Given the description of an element on the screen output the (x, y) to click on. 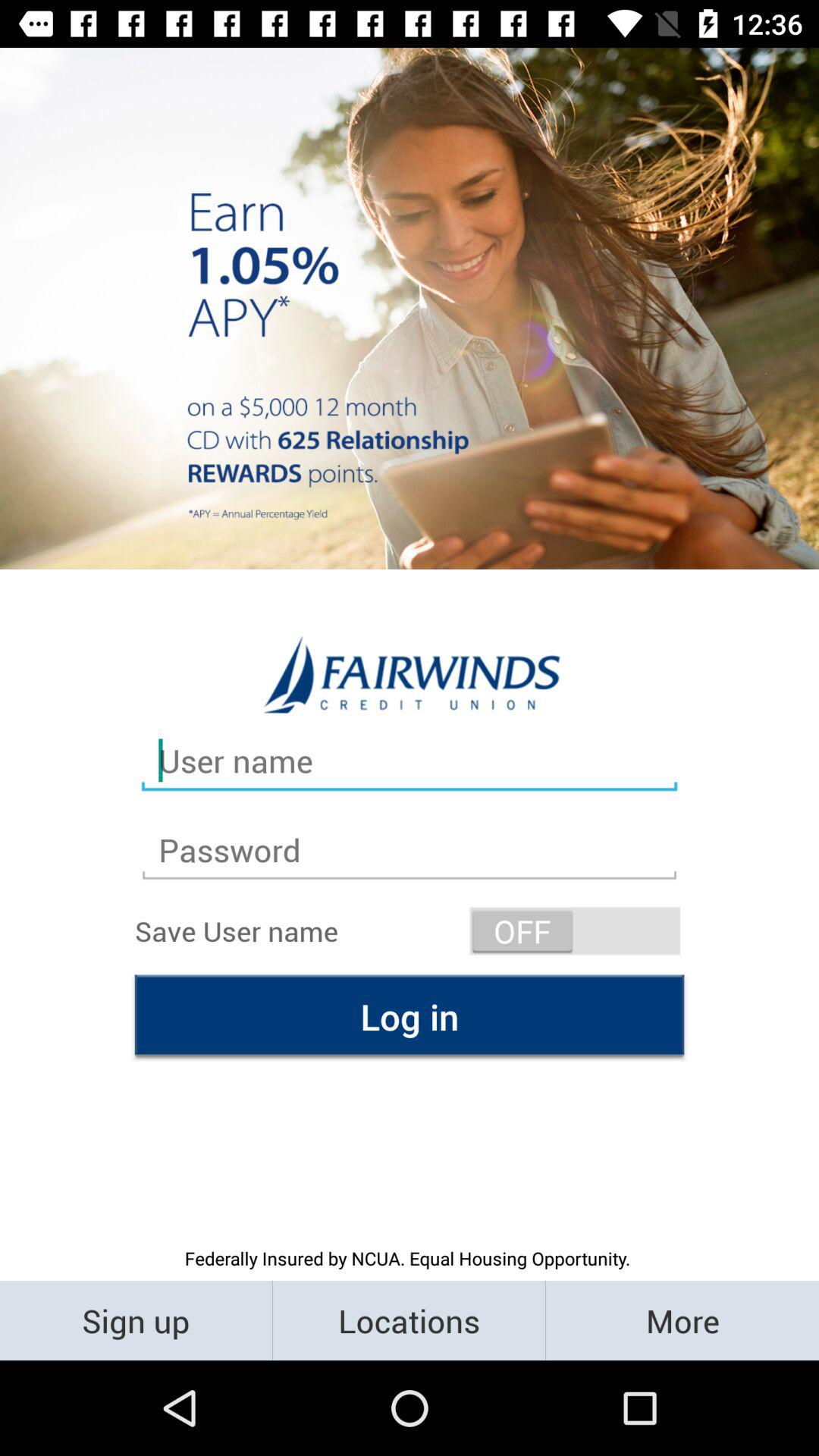
flip to the locations icon (409, 1320)
